Given the description of an element on the screen output the (x, y) to click on. 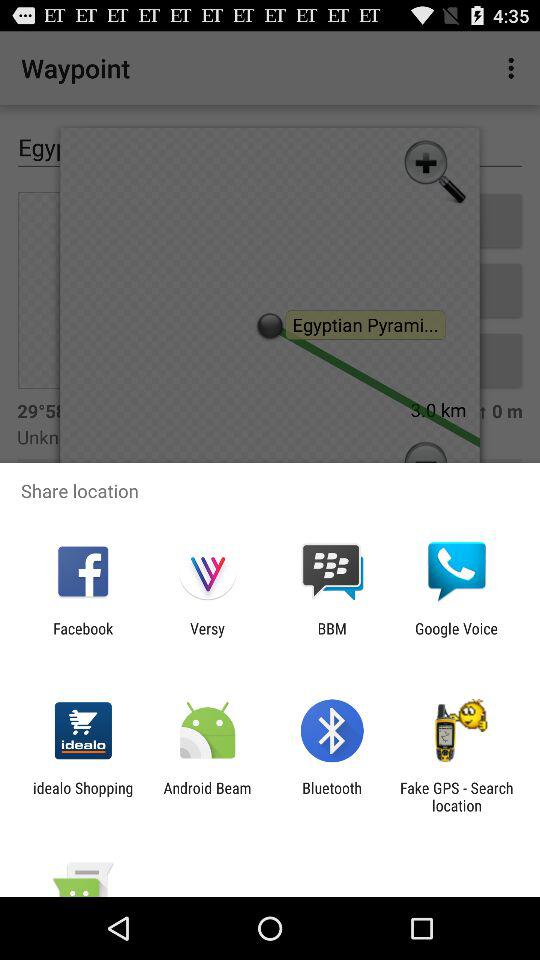
choose the app next to the bbm icon (207, 637)
